Given the description of an element on the screen output the (x, y) to click on. 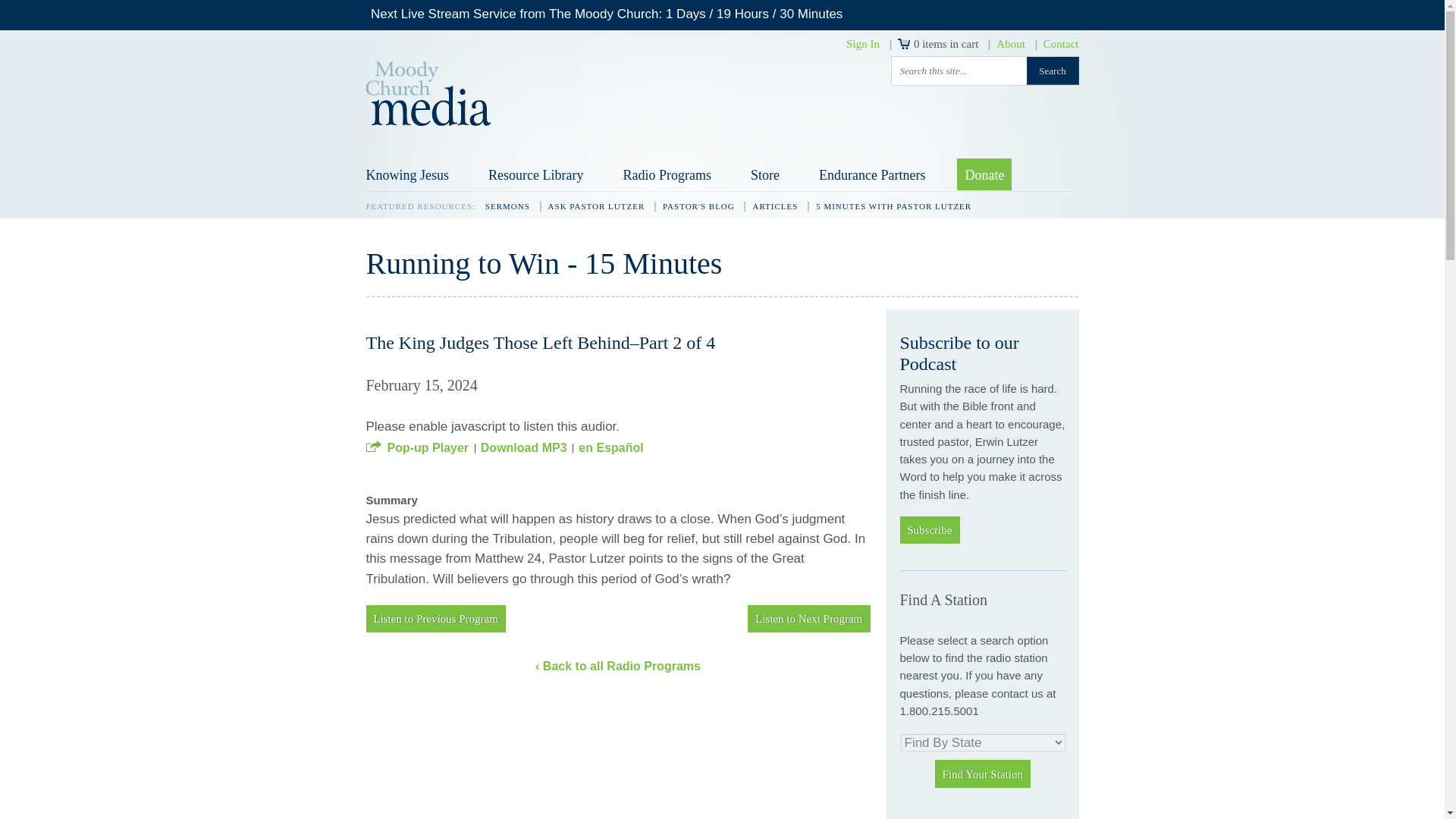
Download MP3 (523, 447)
Search this site... (958, 70)
Find Your Station (982, 773)
Pop-up Player (416, 447)
Broadcaster Info (940, 816)
Contact (1060, 43)
Subscribe (929, 529)
Podcasts (1027, 816)
Listen to Next Program (808, 618)
Search (1052, 70)
